Given the description of an element on the screen output the (x, y) to click on. 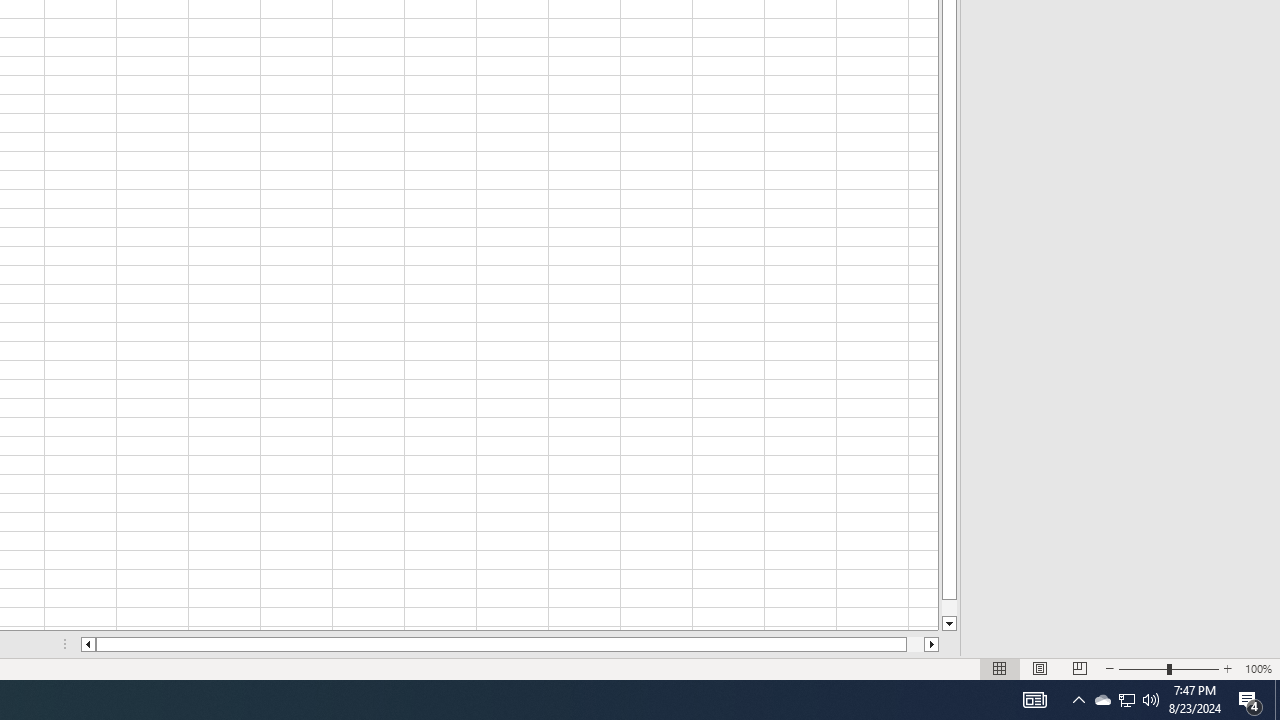
Class: NetUIScrollBar (509, 644)
Normal (1000, 668)
Page right (915, 644)
Page down (948, 607)
Zoom In (1227, 668)
Zoom (1168, 668)
Line down (948, 624)
Column right (932, 644)
Page Break Preview (1079, 668)
Column left (87, 644)
Zoom Out (1142, 668)
